Given the description of an element on the screen output the (x, y) to click on. 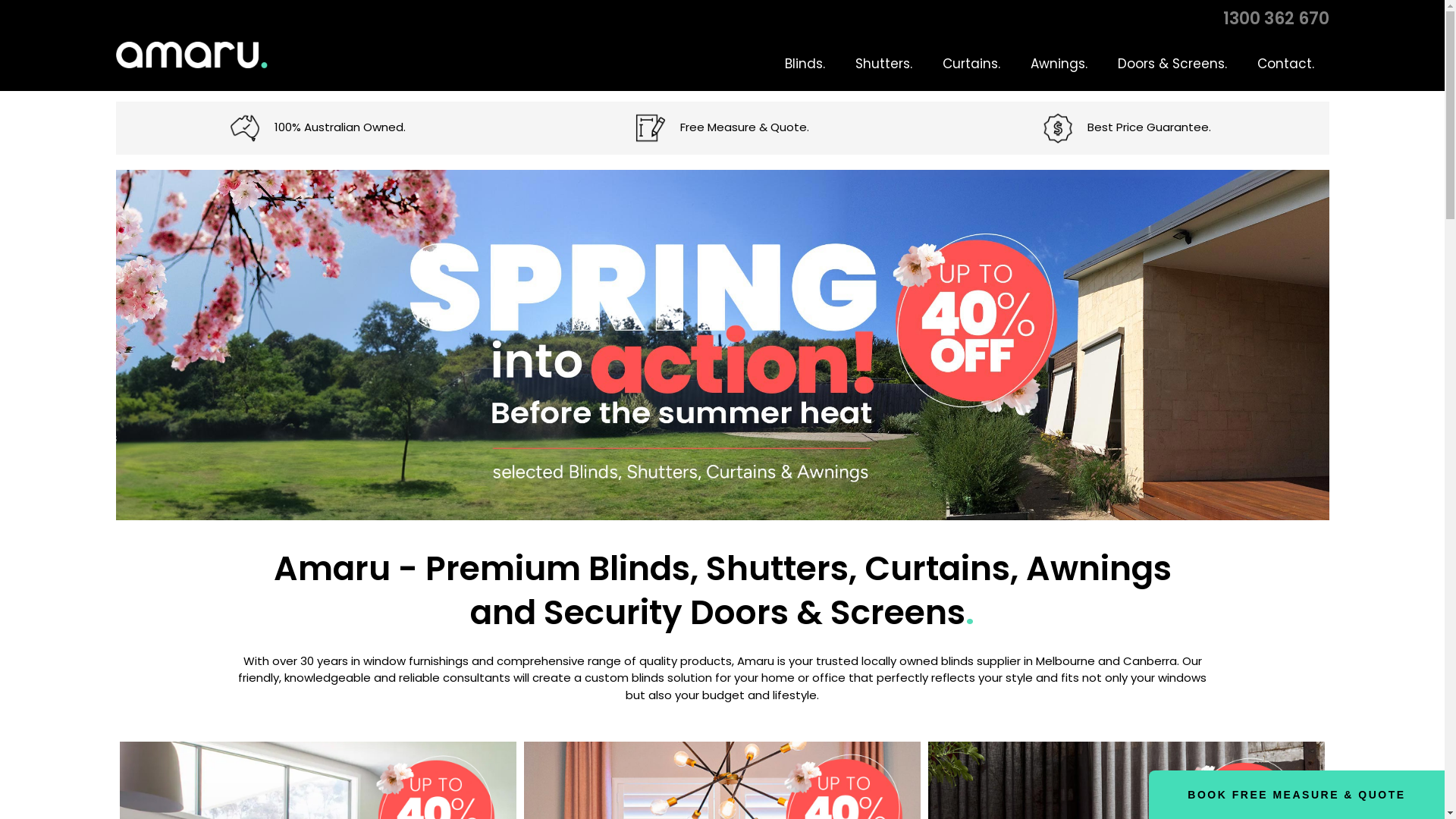
Blinds. Element type: text (803, 63)
Contact. Element type: text (1285, 63)
Shutters. Element type: text (883, 63)
Awnings. Element type: text (1057, 63)
Doors & Screens. Element type: text (1172, 63)
Curtains. Element type: text (970, 63)
